Given the description of an element on the screen output the (x, y) to click on. 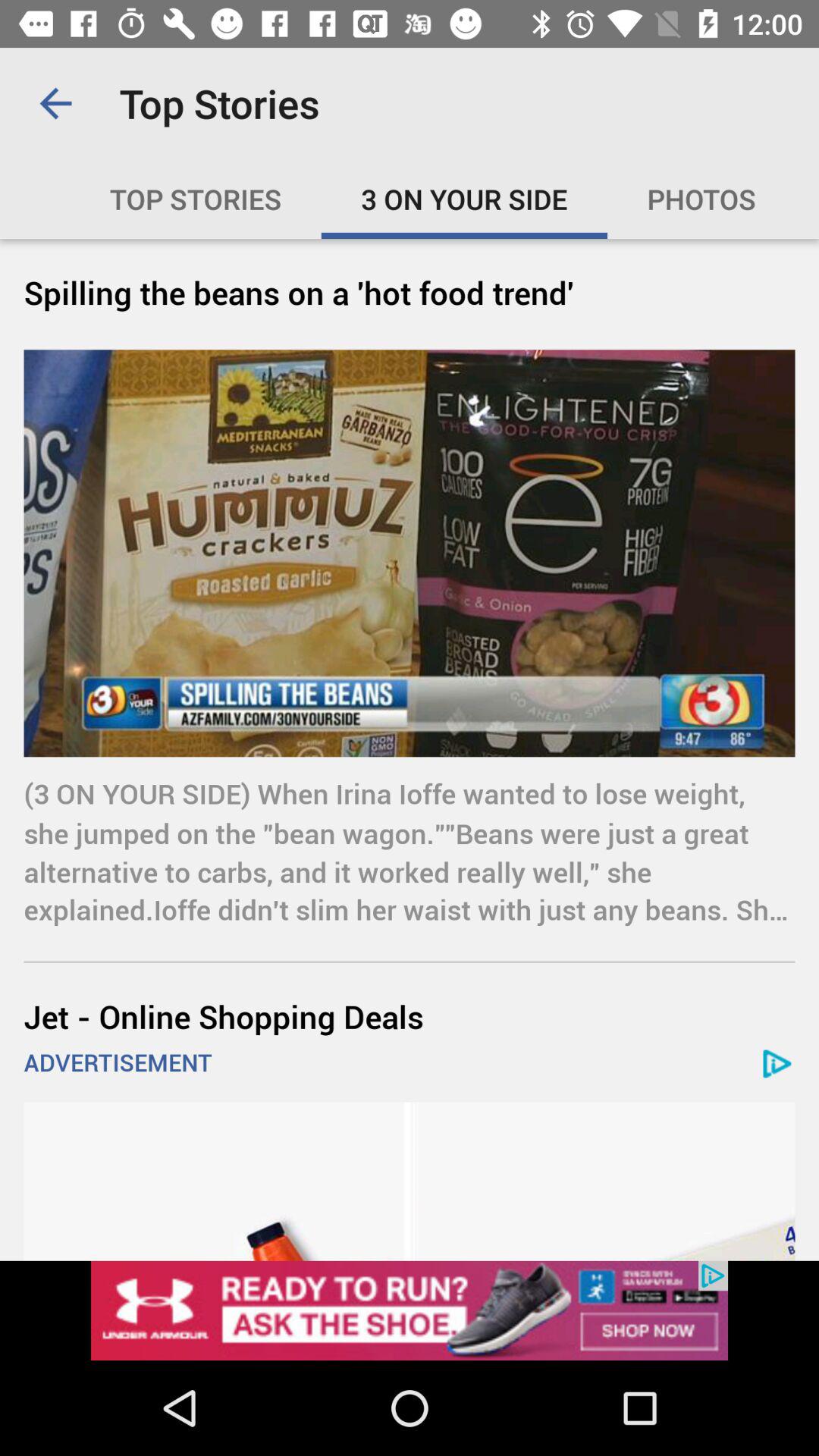
open webpage of displayed advertisement (409, 1310)
